Given the description of an element on the screen output the (x, y) to click on. 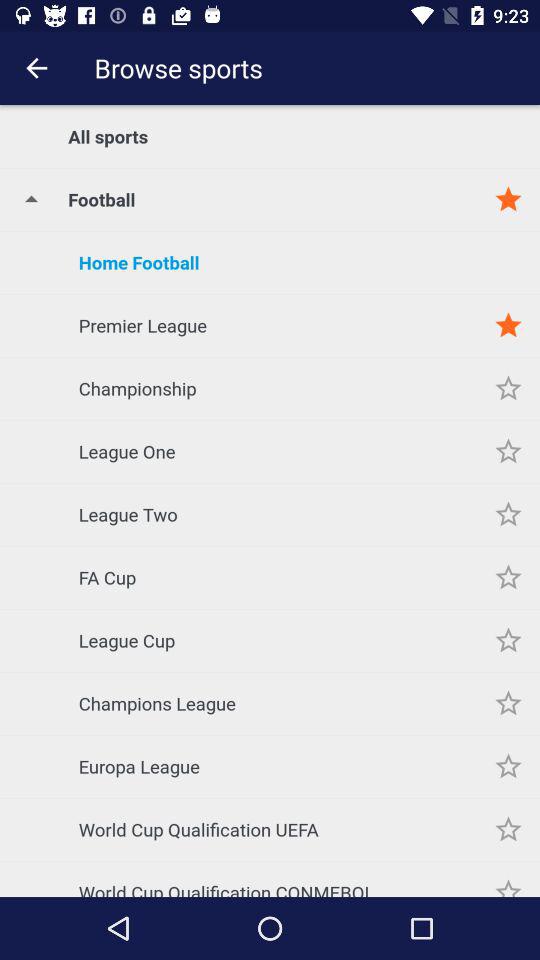
star this option (508, 879)
